Given the description of an element on the screen output the (x, y) to click on. 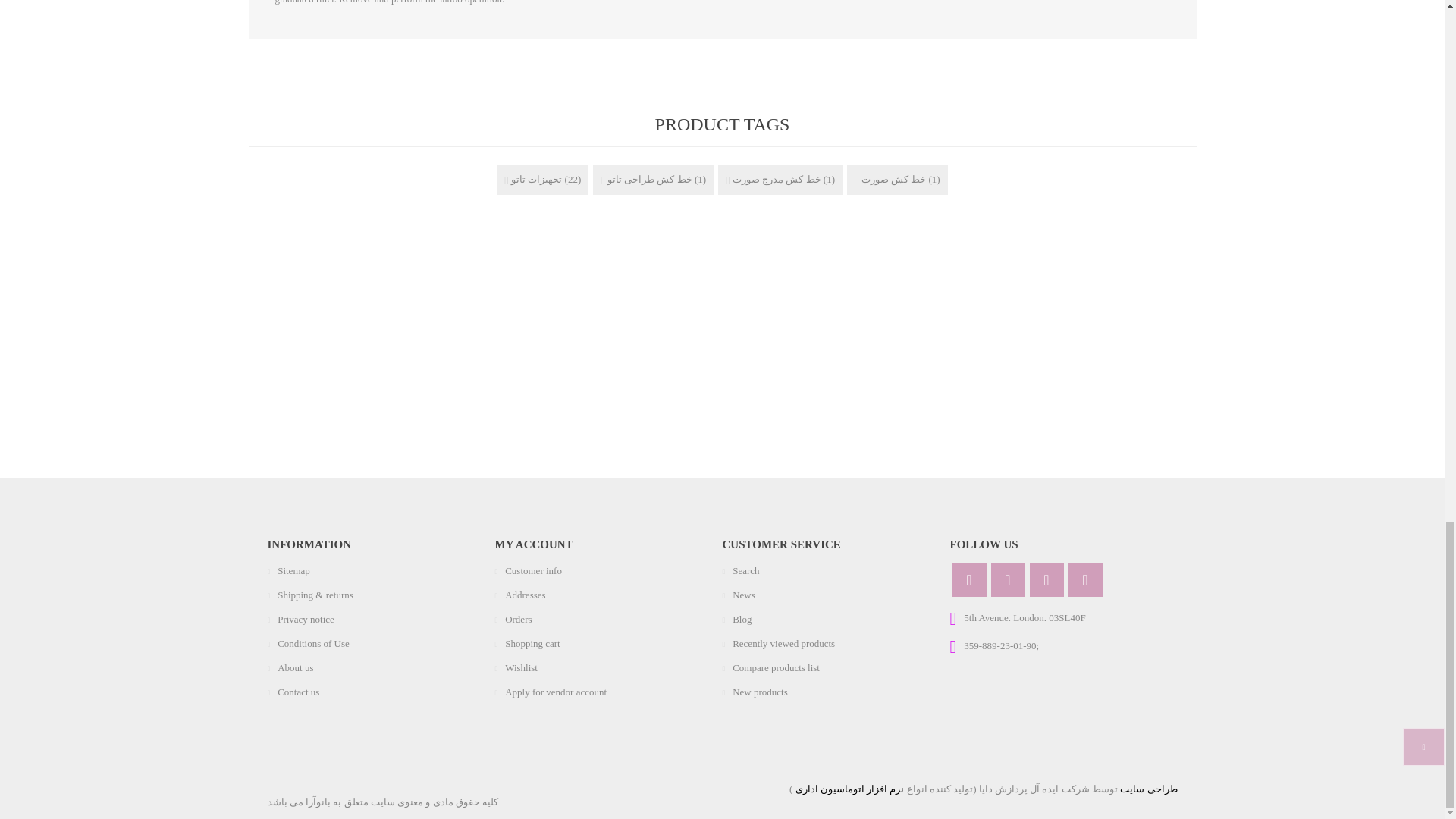
Sitemap (294, 570)
Conditions of Use (313, 643)
Privacy notice (306, 618)
